Given the description of an element on the screen output the (x, y) to click on. 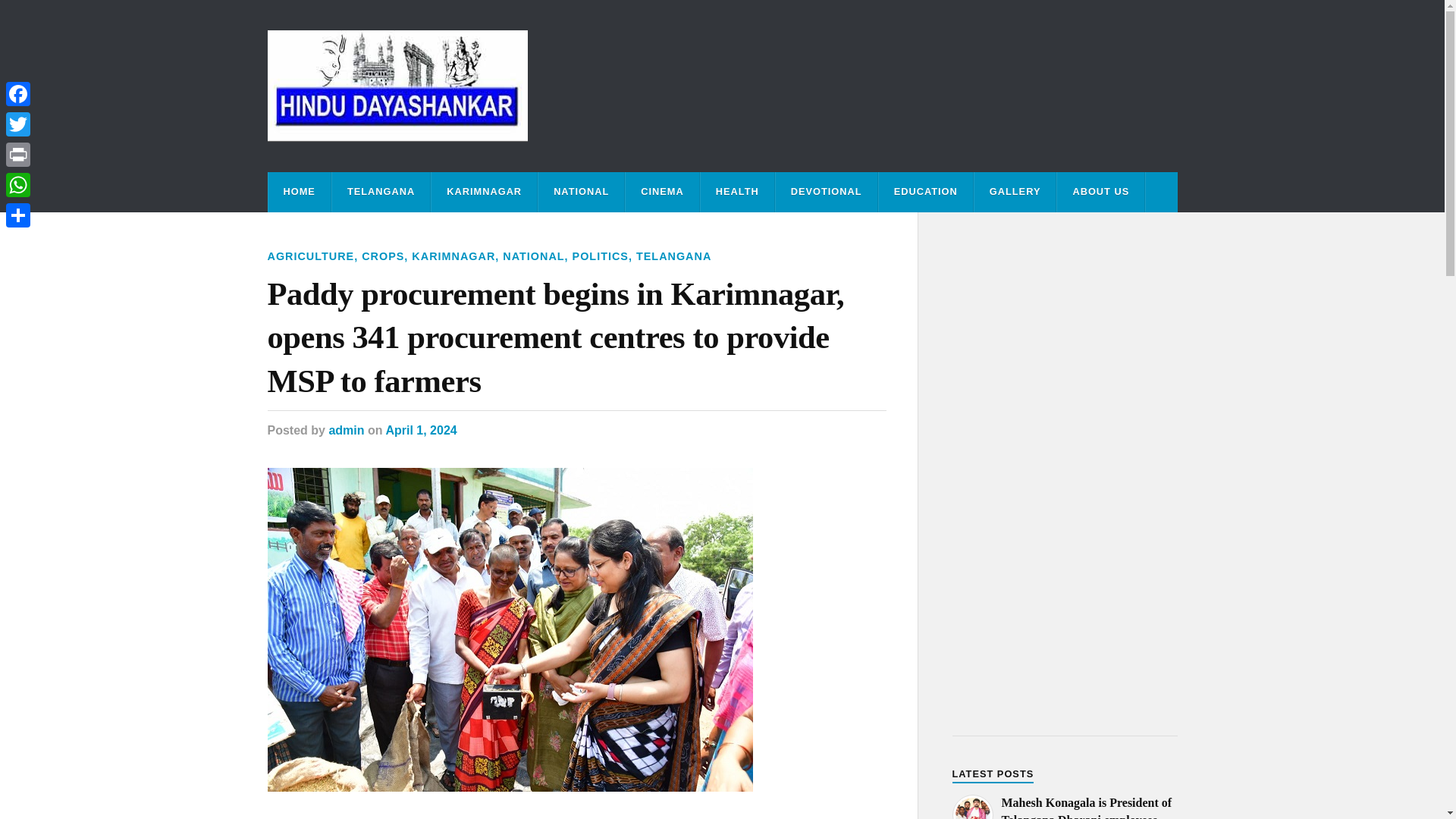
April 1, 2024 (421, 430)
NATIONAL (581, 191)
KARIMNAGAR (453, 256)
GALLERY (1015, 191)
Print (17, 154)
KARIMNAGAR (483, 191)
CROPS (382, 256)
admin (346, 430)
DEVOTIONAL (826, 191)
HEALTH (737, 191)
